Given the description of an element on the screen output the (x, y) to click on. 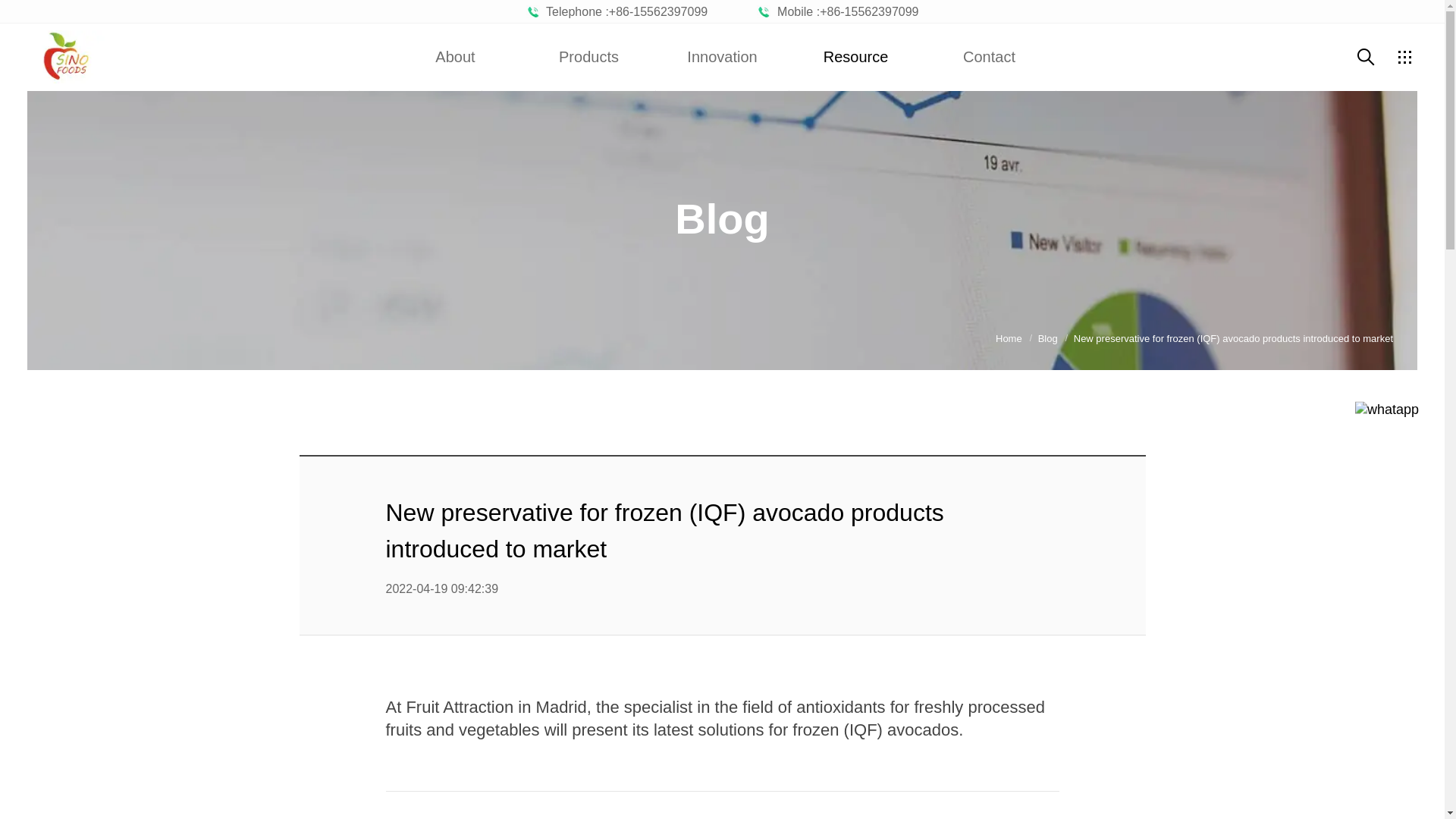
Other links (1403, 56)
Products (588, 56)
About (454, 56)
Contact (988, 56)
Resource (855, 56)
Innovation (722, 56)
